Given the description of an element on the screen output the (x, y) to click on. 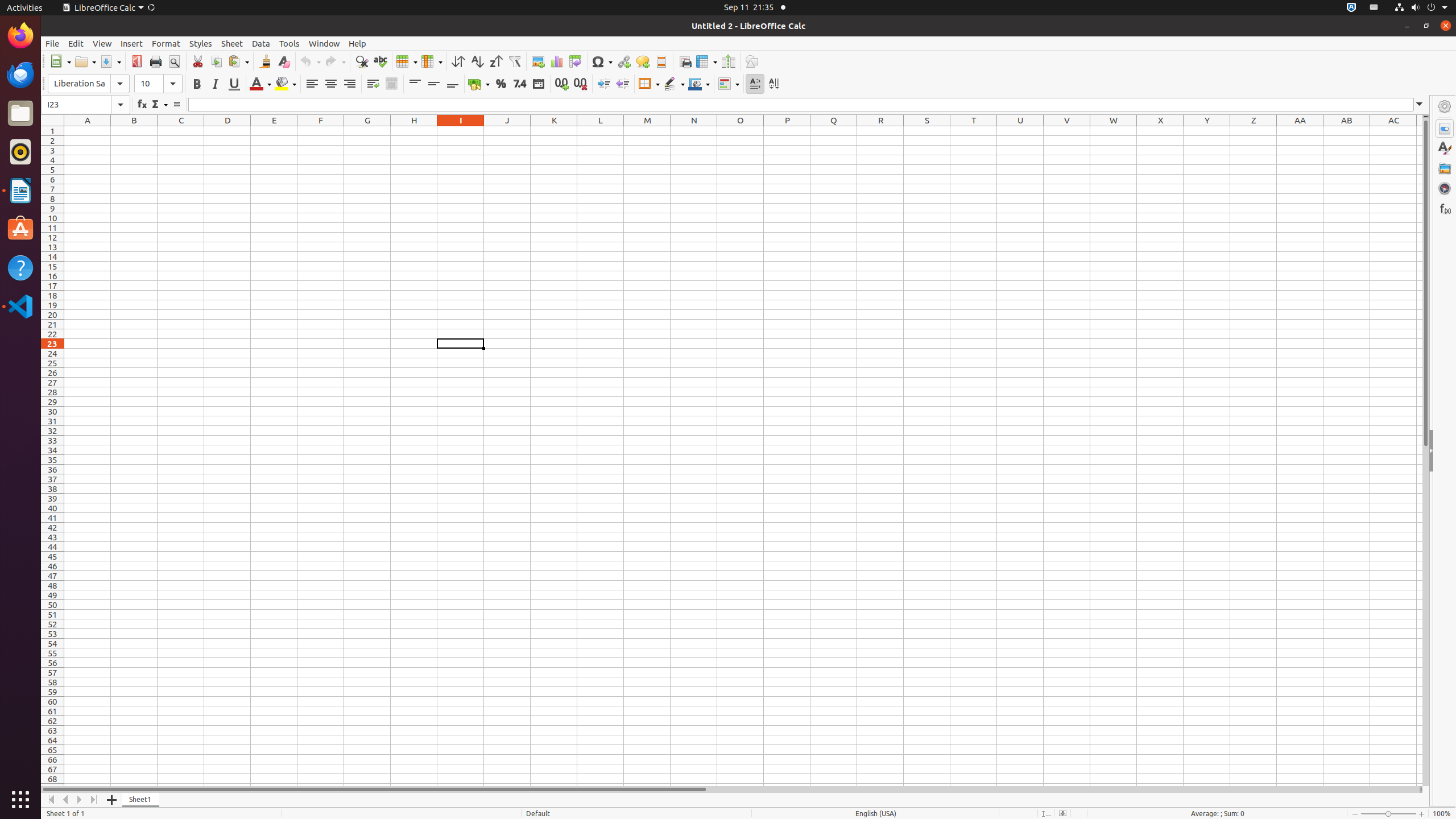
R1 Element type: table-cell (880, 130)
X1 Element type: table-cell (1159, 130)
Text direction from left to right Element type: toggle-button (754, 83)
Tools Element type: menu (289, 43)
Paste Element type: push-button (237, 61)
